Given the description of an element on the screen output the (x, y) to click on. 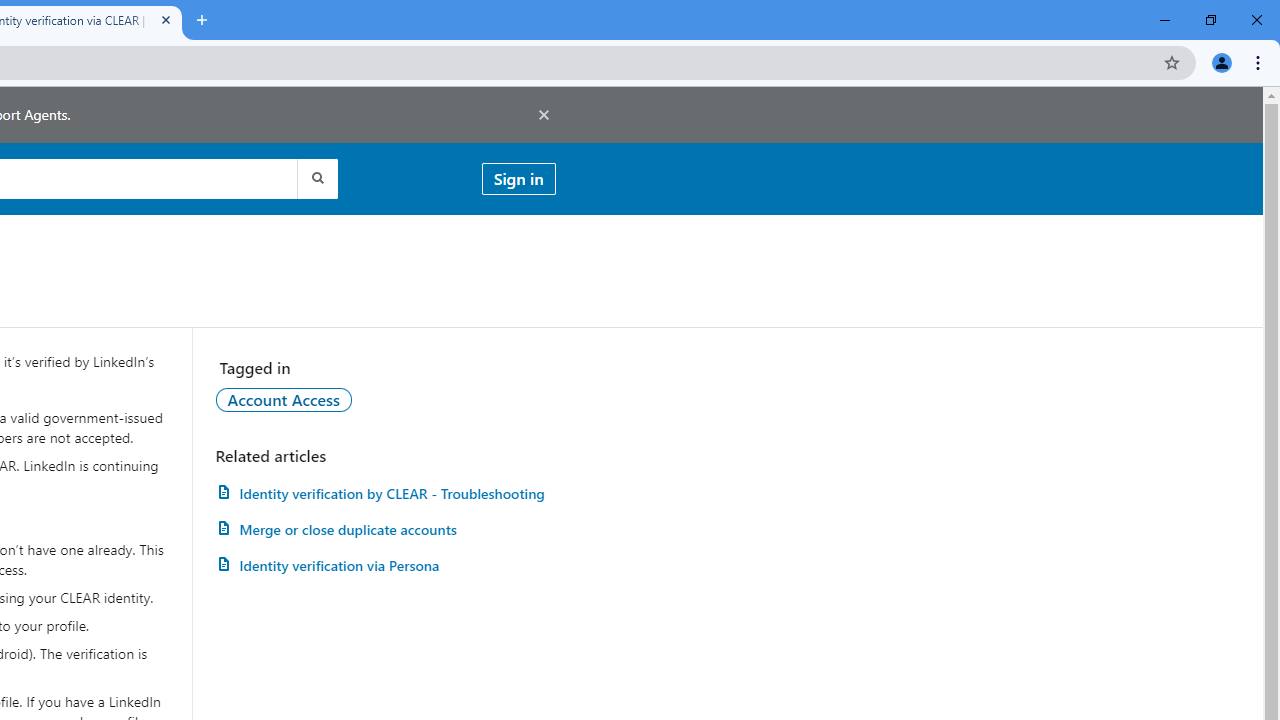
Account Access (283, 399)
Identity verification via Persona (385, 565)
